Given the description of an element on the screen output the (x, y) to click on. 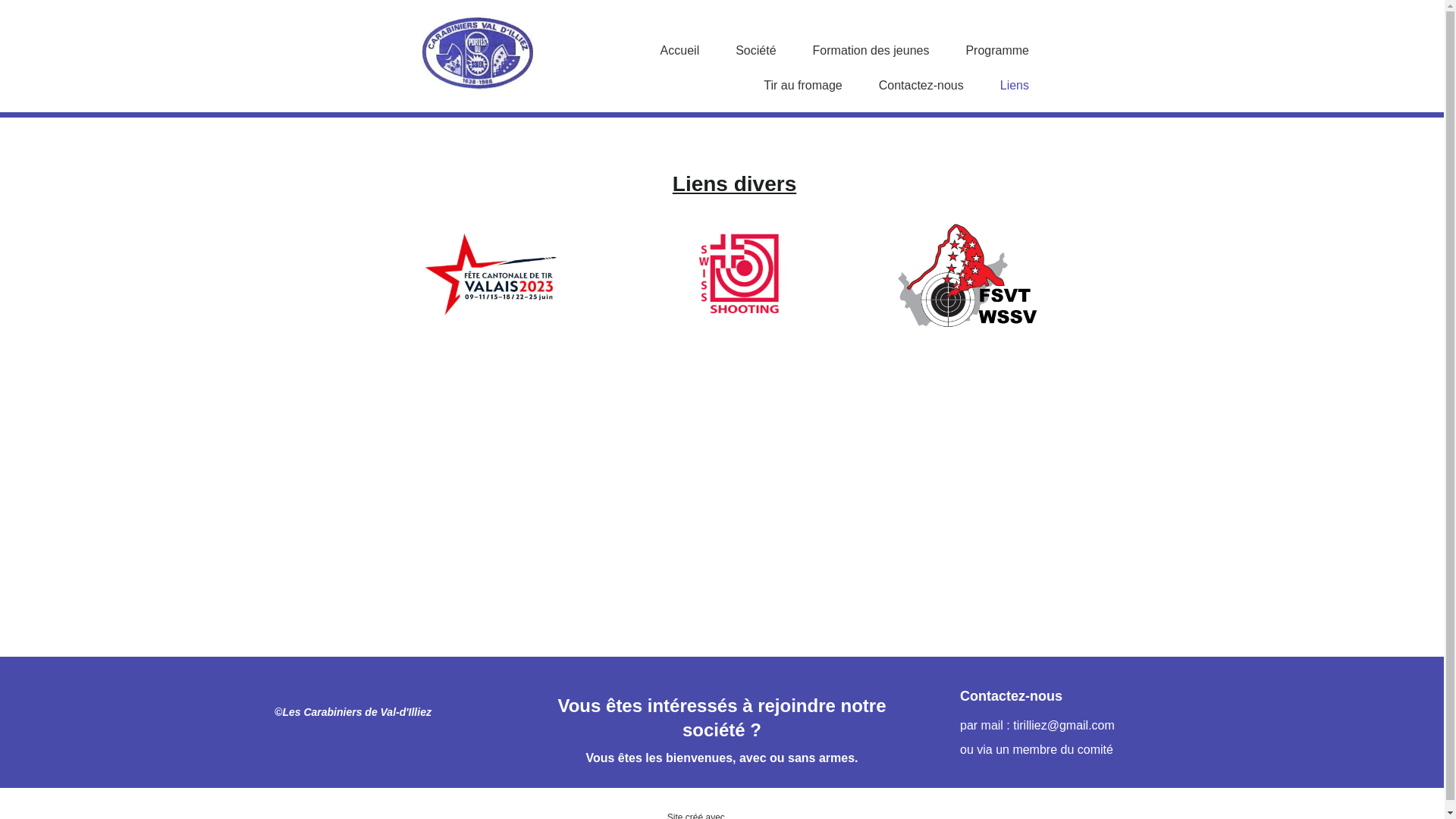
Tir au fromage Element type: text (802, 85)
Formation des jeunes Element type: text (870, 50)
Contactez-nous Element type: text (920, 85)
Accueil Element type: text (680, 50)
Programme Element type: text (997, 50)
Liens Element type: text (1014, 85)
